Given the description of an element on the screen output the (x, y) to click on. 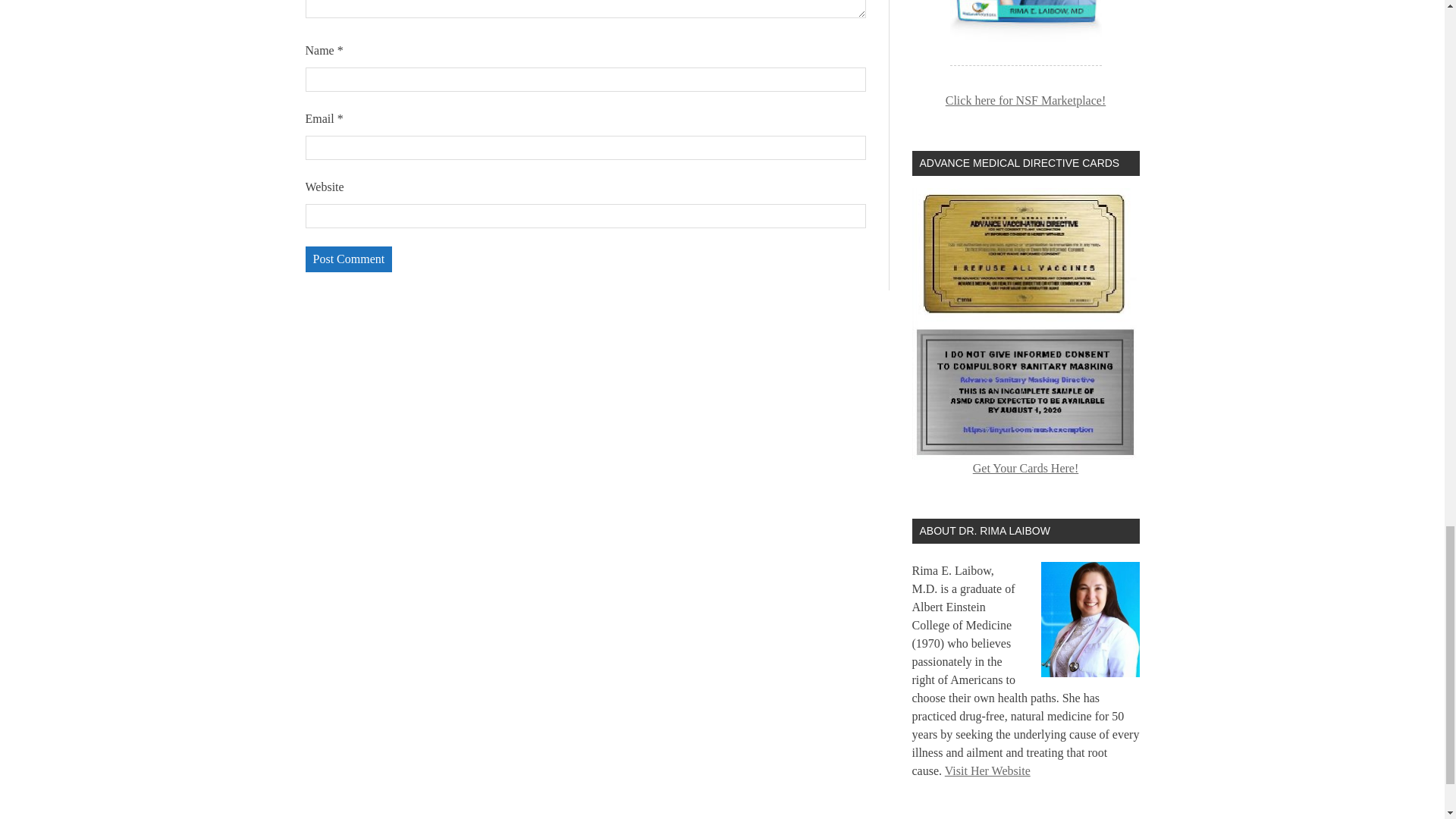
Post Comment (347, 258)
